Given the description of an element on the screen output the (x, y) to click on. 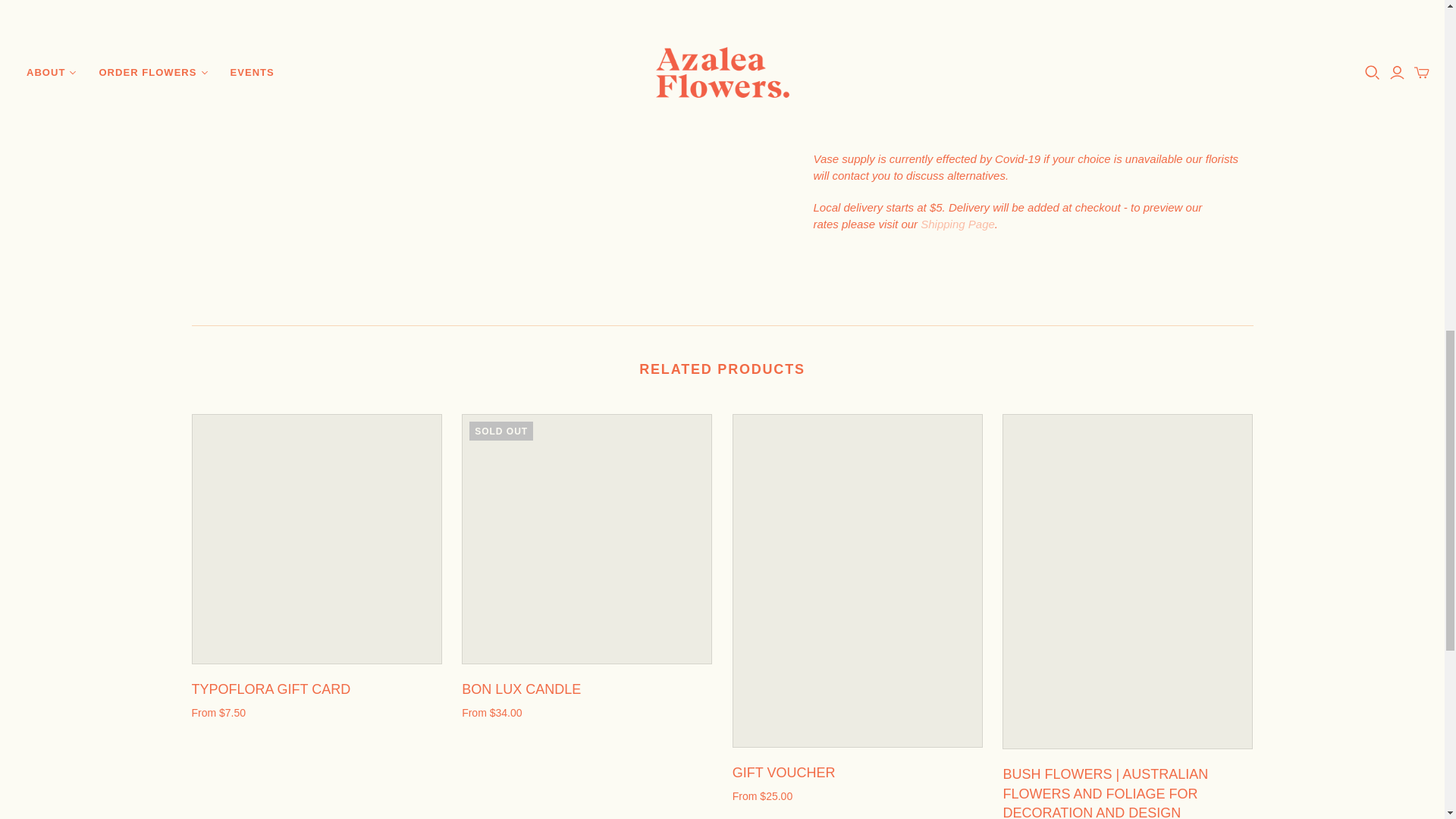
Shipping Page (957, 223)
